Given the description of an element on the screen output the (x, y) to click on. 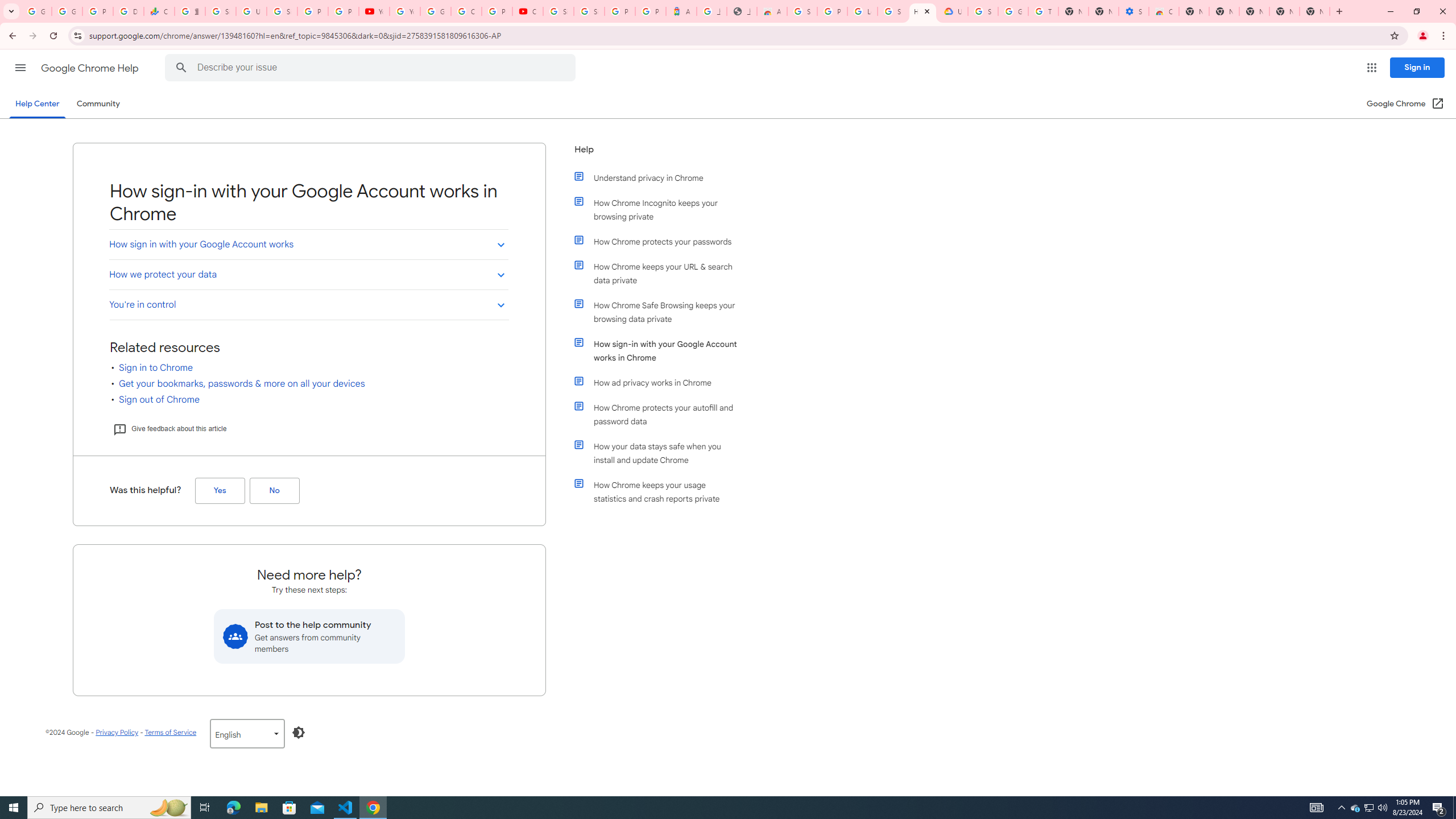
Turn cookies on or off - Computer - Google Account Help (1042, 11)
How ad privacy works in Chrome (661, 382)
How Chrome protects your autofill and password data (661, 414)
Content Creator Programs & Opportunities - YouTube Creators (527, 11)
YouTube (404, 11)
Understand privacy in Chrome (661, 177)
Sign in - Google Accounts (801, 11)
Awesome Screen Recorder & Screenshot - Chrome Web Store (771, 11)
Create your Google Account (465, 11)
How we protect your data (308, 274)
